Given the description of an element on the screen output the (x, y) to click on. 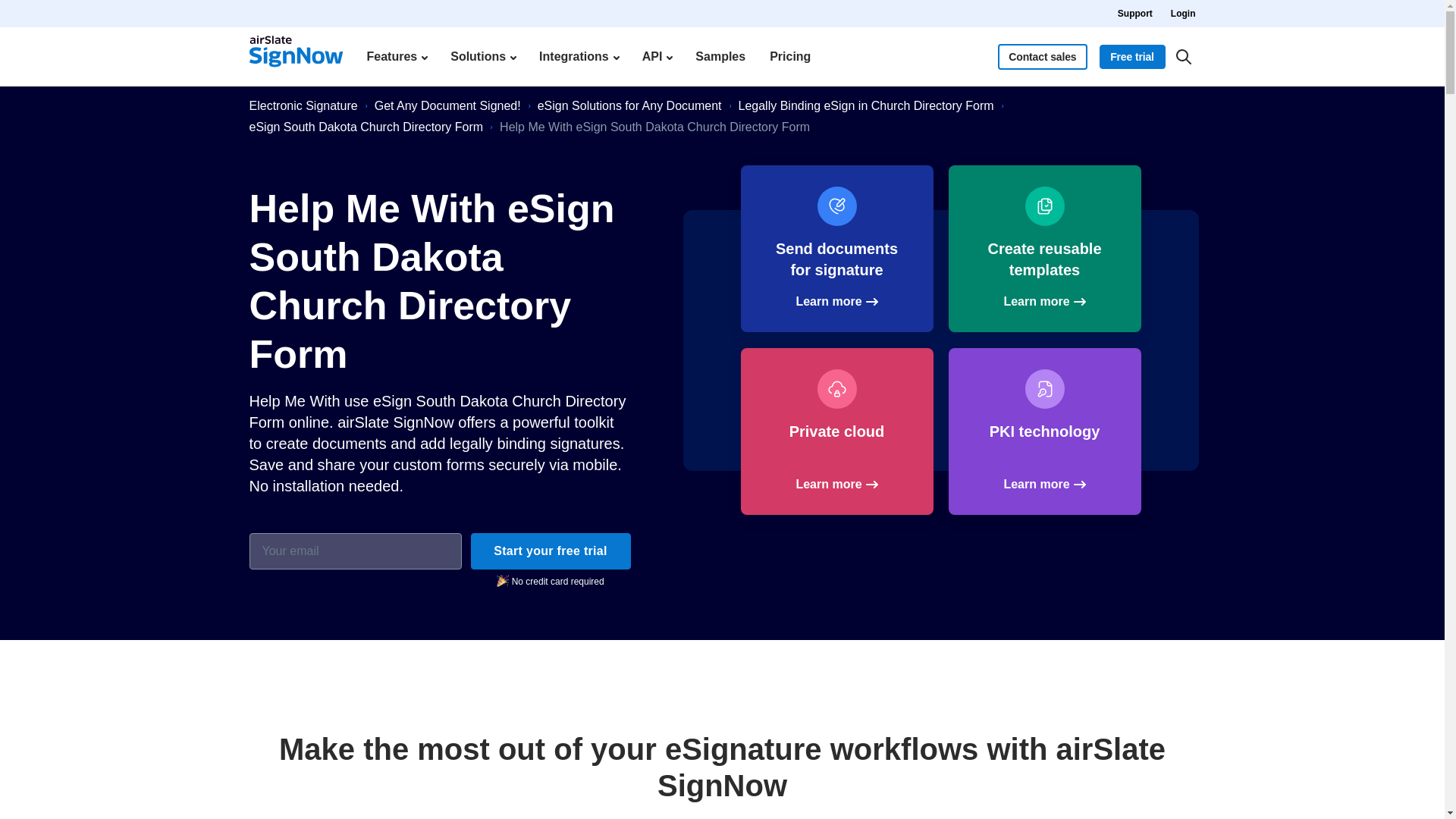
Send documents for signature (836, 248)
Solutions (482, 56)
Login (1182, 13)
Create reusable templates (1043, 248)
Features (396, 56)
signNow (295, 56)
Private cloud (836, 431)
PKI technology (1043, 431)
Support (1135, 13)
Search (1182, 56)
